Given the description of an element on the screen output the (x, y) to click on. 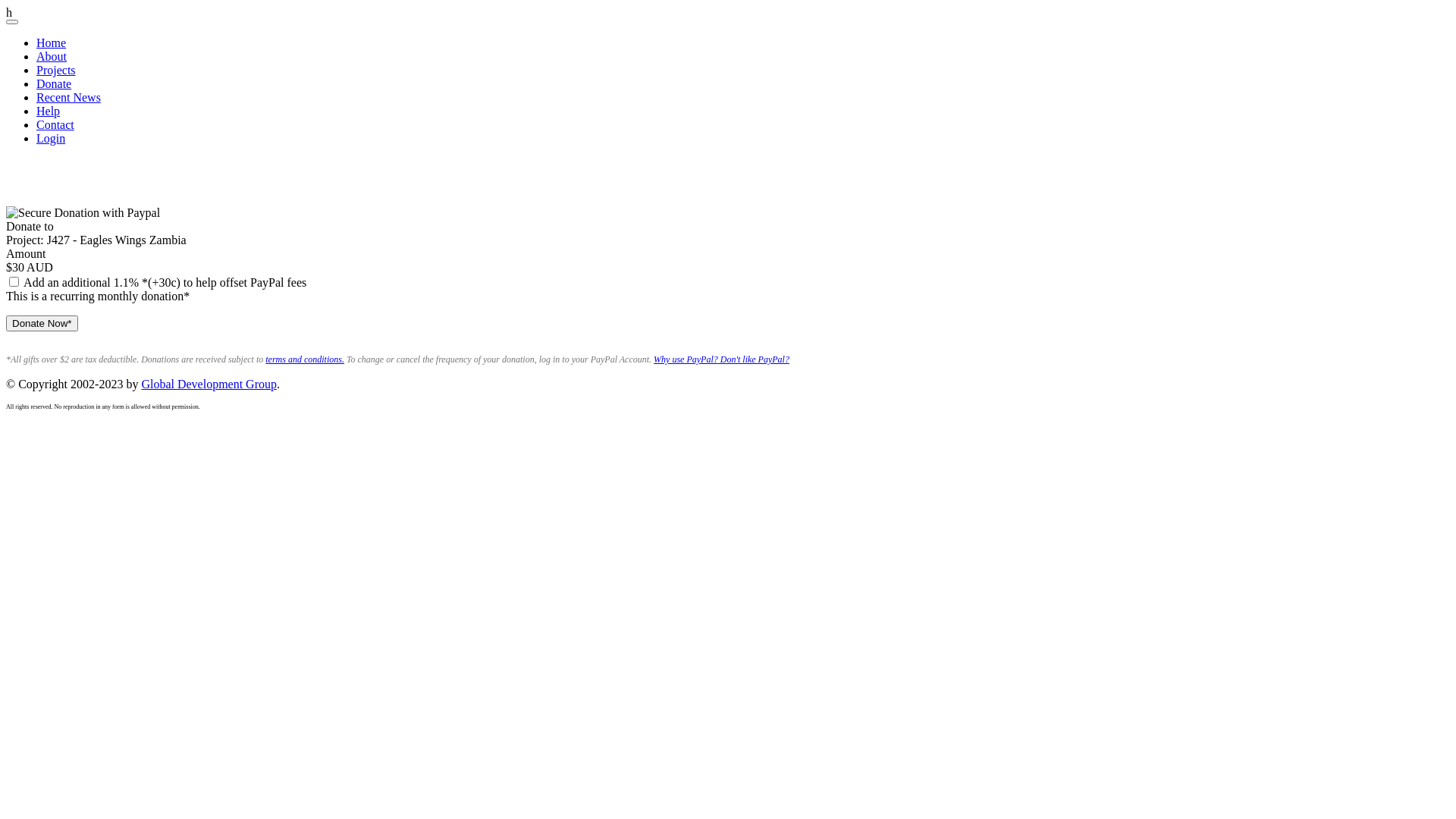
Projects Element type: text (55, 69)
Help Element type: text (47, 110)
About Element type: text (51, 56)
Global Development Group Element type: text (208, 383)
Don't like PayPal? Element type: text (753, 359)
Home Element type: text (50, 42)
Contact Element type: text (55, 124)
Recent News Element type: text (68, 97)
Donate Element type: text (53, 83)
Why use PayPal? Element type: text (685, 359)
terms and conditions. Element type: text (304, 359)
Donate Now* Element type: text (42, 323)
Login Element type: text (50, 137)
